Given the description of an element on the screen output the (x, y) to click on. 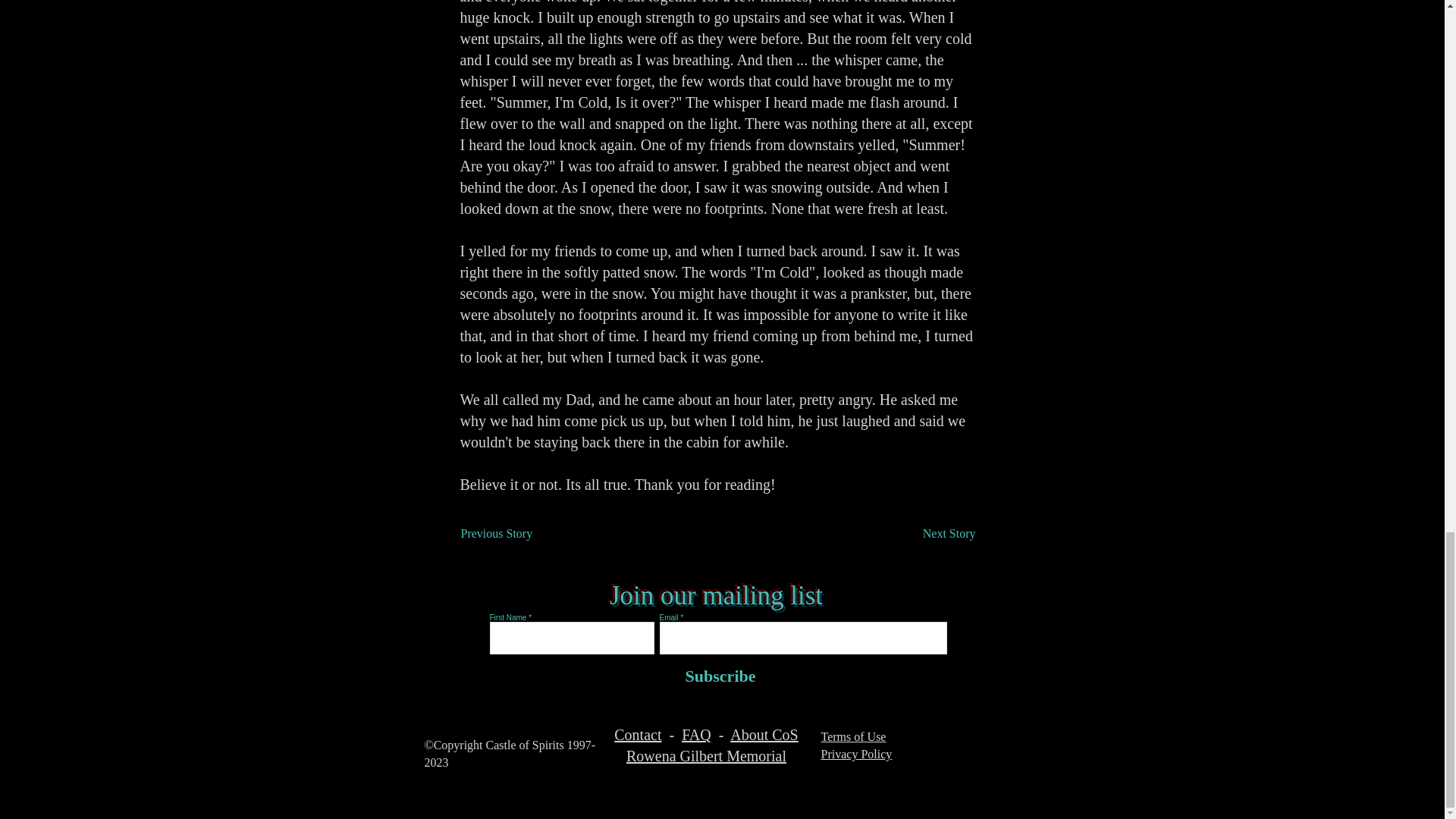
About CoS (763, 734)
Next Story (937, 533)
Previous Story (510, 533)
Subscribe (717, 676)
Contact (637, 734)
Rowena Gilbert Memorial (706, 755)
Terms of Use (853, 736)
FAQ (696, 734)
Privacy Policy (856, 753)
